Given the description of an element on the screen output the (x, y) to click on. 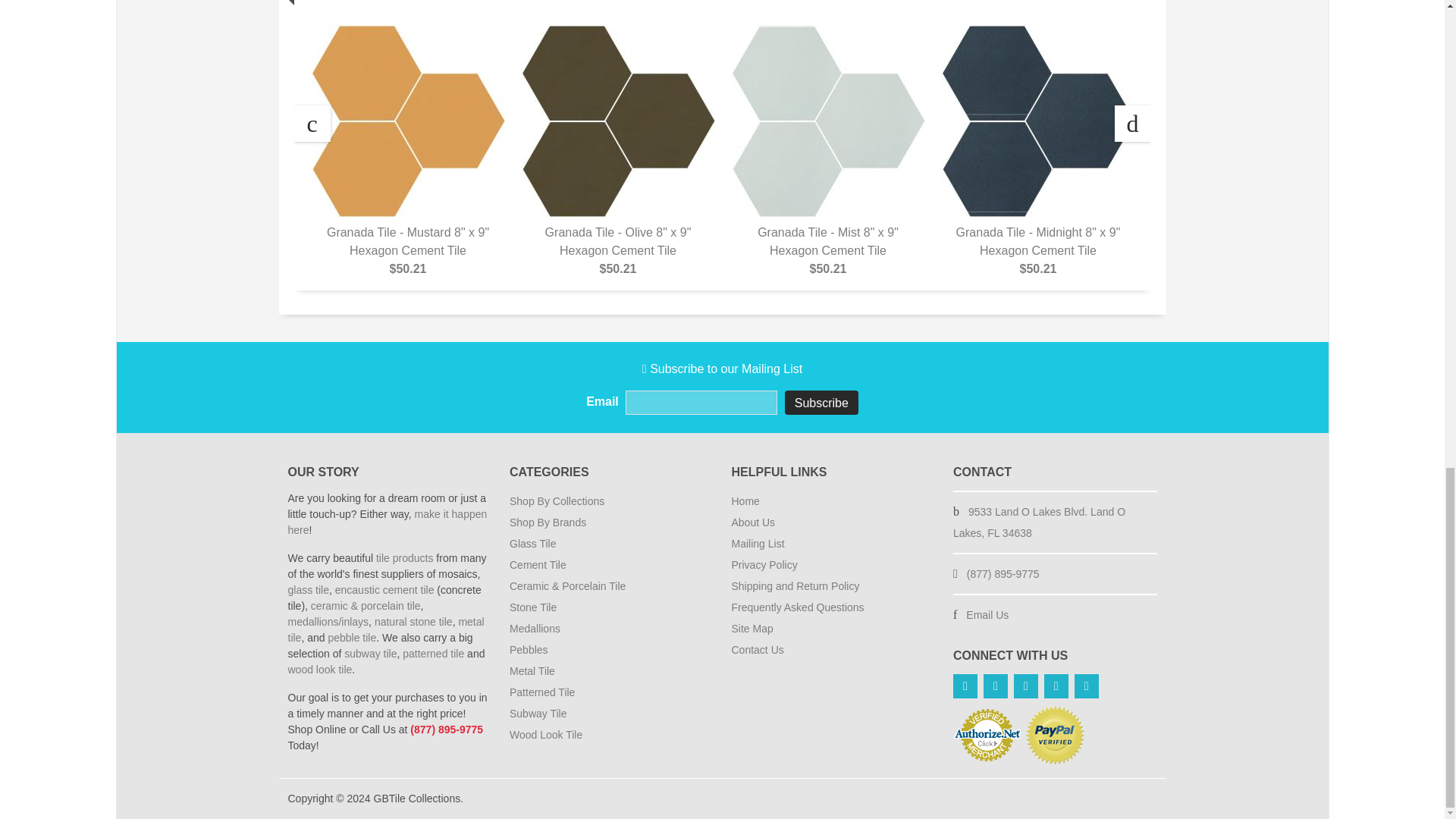
Subscribe (821, 402)
